Given the description of an element on the screen output the (x, y) to click on. 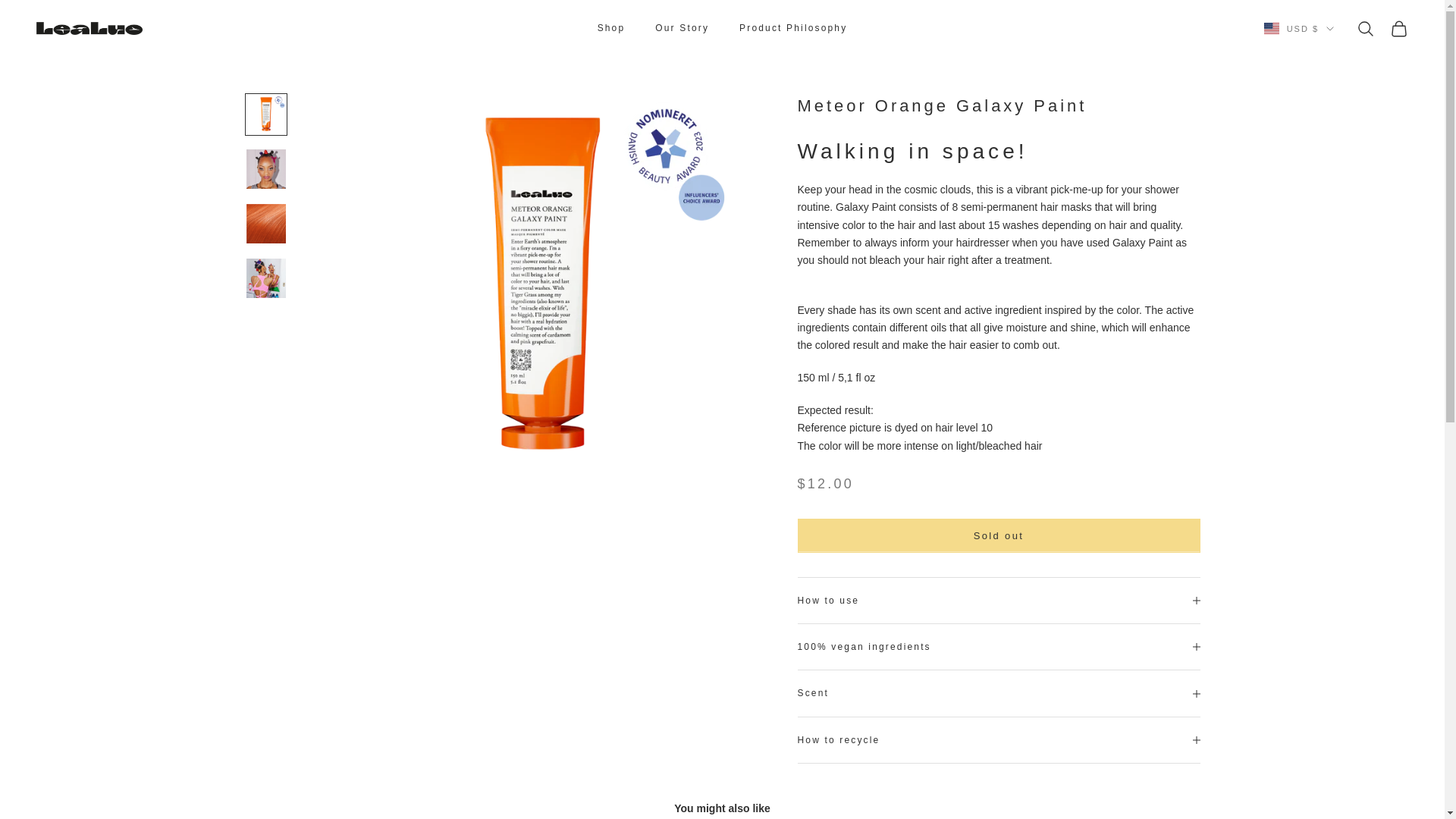
Page 12 (998, 317)
Product Philosophy (793, 28)
LeaLuo (89, 28)
Page 12 (998, 295)
Our Story (682, 28)
